Given the description of an element on the screen output the (x, y) to click on. 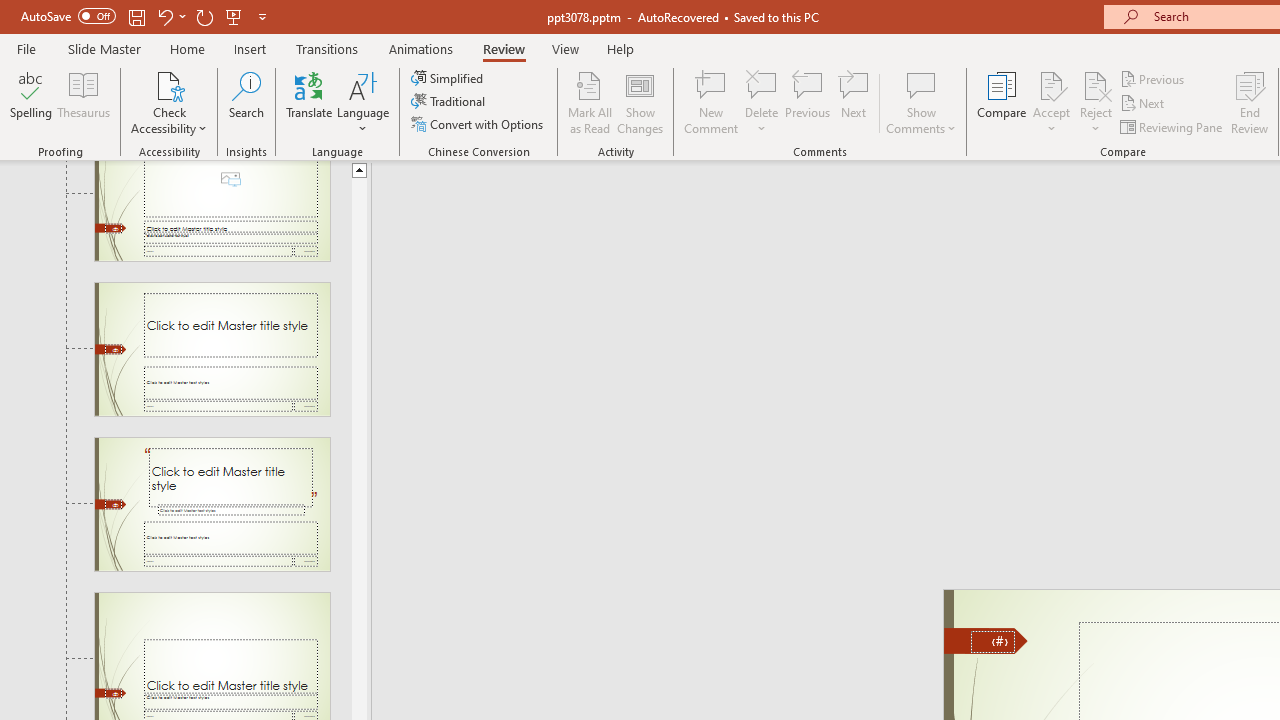
Font Color Red (556, 180)
